Given the description of an element on the screen output the (x, y) to click on. 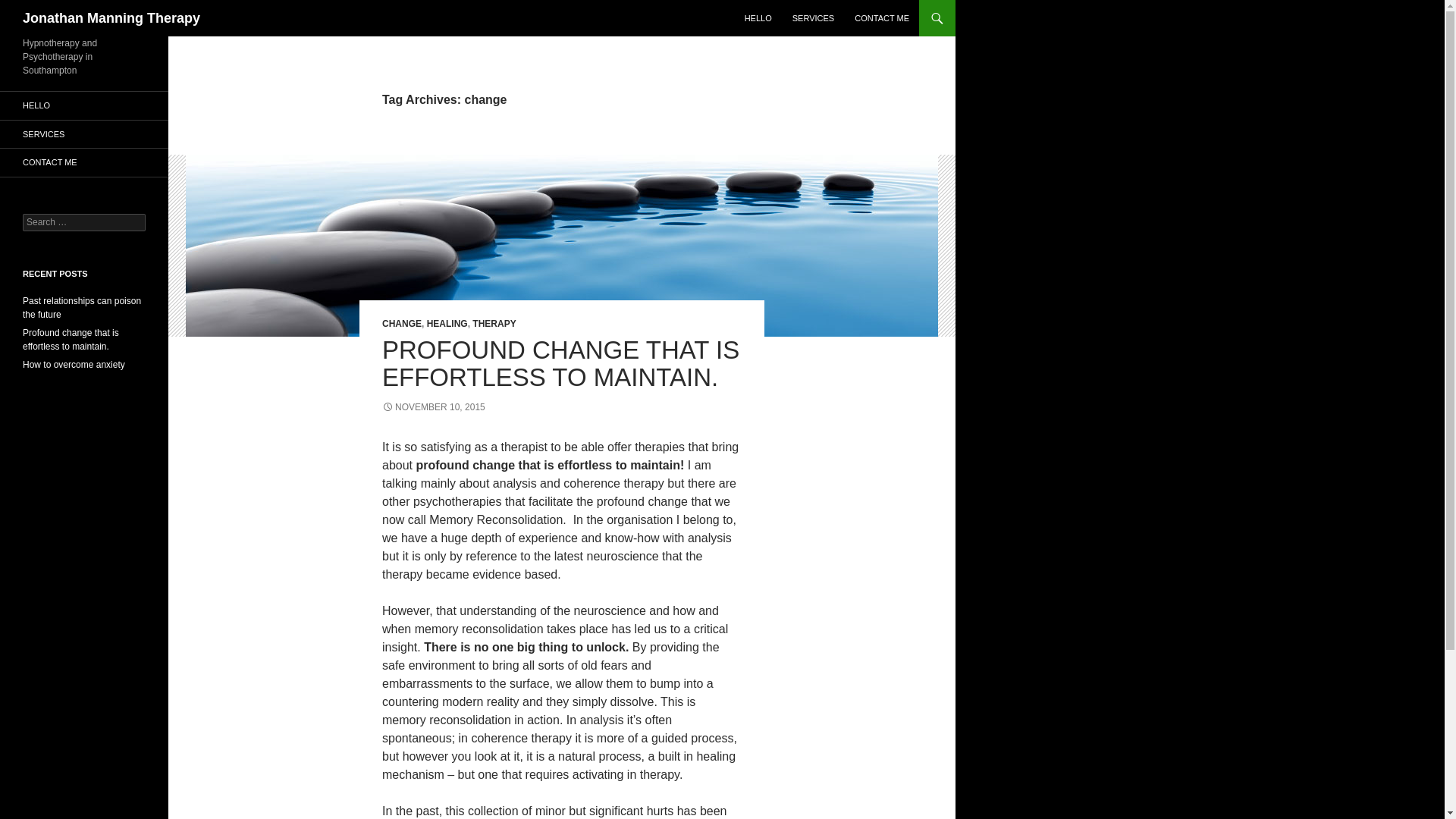
PROFOUND CHANGE THAT IS EFFORTLESS TO MAINTAIN. (560, 363)
NOVEMBER 10, 2015 (432, 407)
SERVICES (813, 18)
Profound change that is effortless to maintain. (71, 339)
Past relationships can poison the future (82, 307)
CHANGE (401, 323)
Search (30, 8)
HELLO (757, 18)
CONTACT ME (84, 162)
CONTACT ME (881, 18)
